Given the description of an element on the screen output the (x, y) to click on. 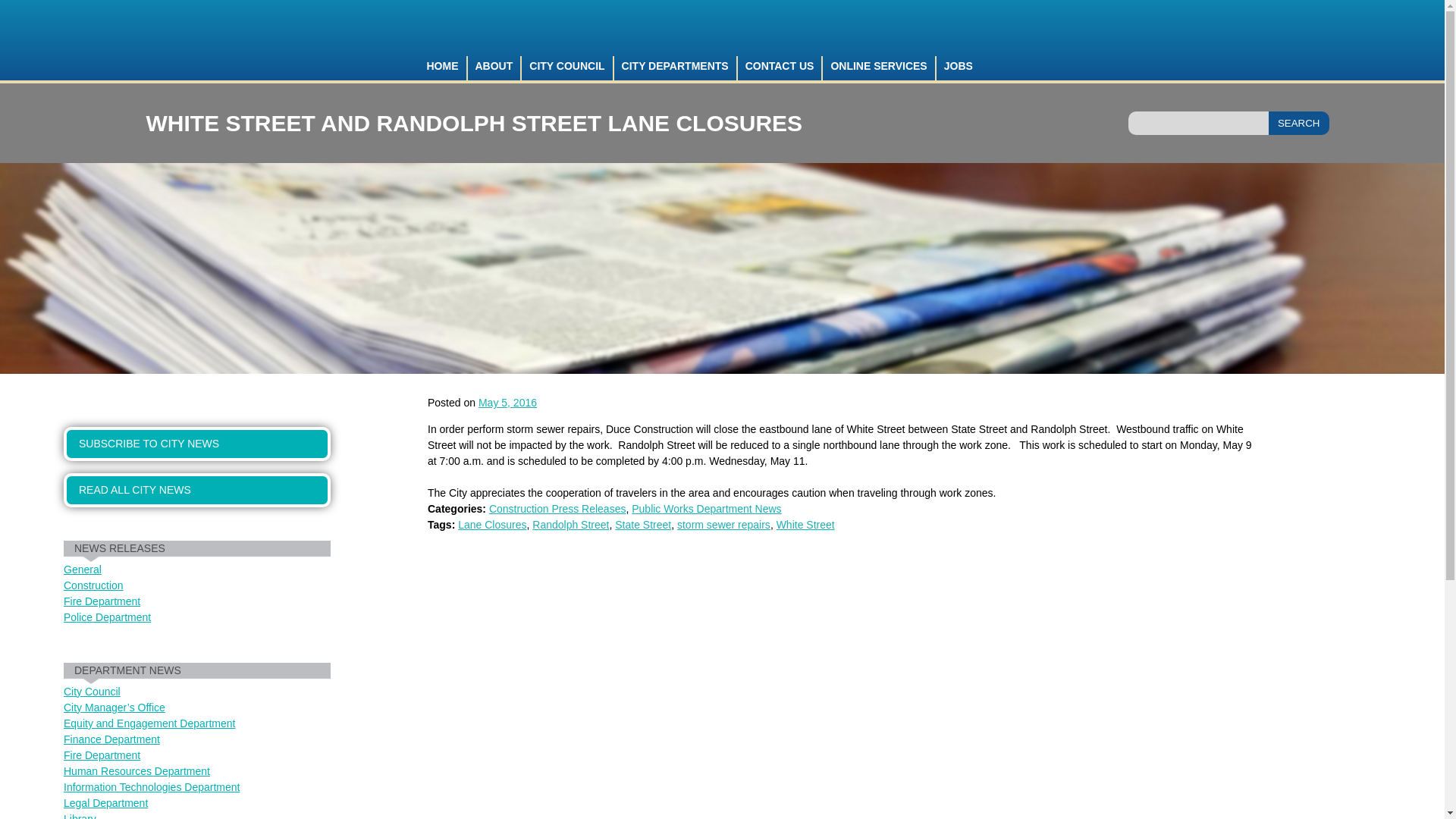
CONTACT US (781, 68)
ABOUT (494, 68)
Construction Press Releases (557, 508)
JOBS (957, 68)
CITY DEPARTMENTS (676, 68)
CITY COUNCIL (566, 68)
City of Champaign (198, 40)
Lane Closures (491, 524)
HOME (443, 68)
Public Works Department News (705, 508)
ONLINE SERVICES (879, 68)
May 5, 2016 (508, 402)
SEARCH (1298, 123)
